Given the description of an element on the screen output the (x, y) to click on. 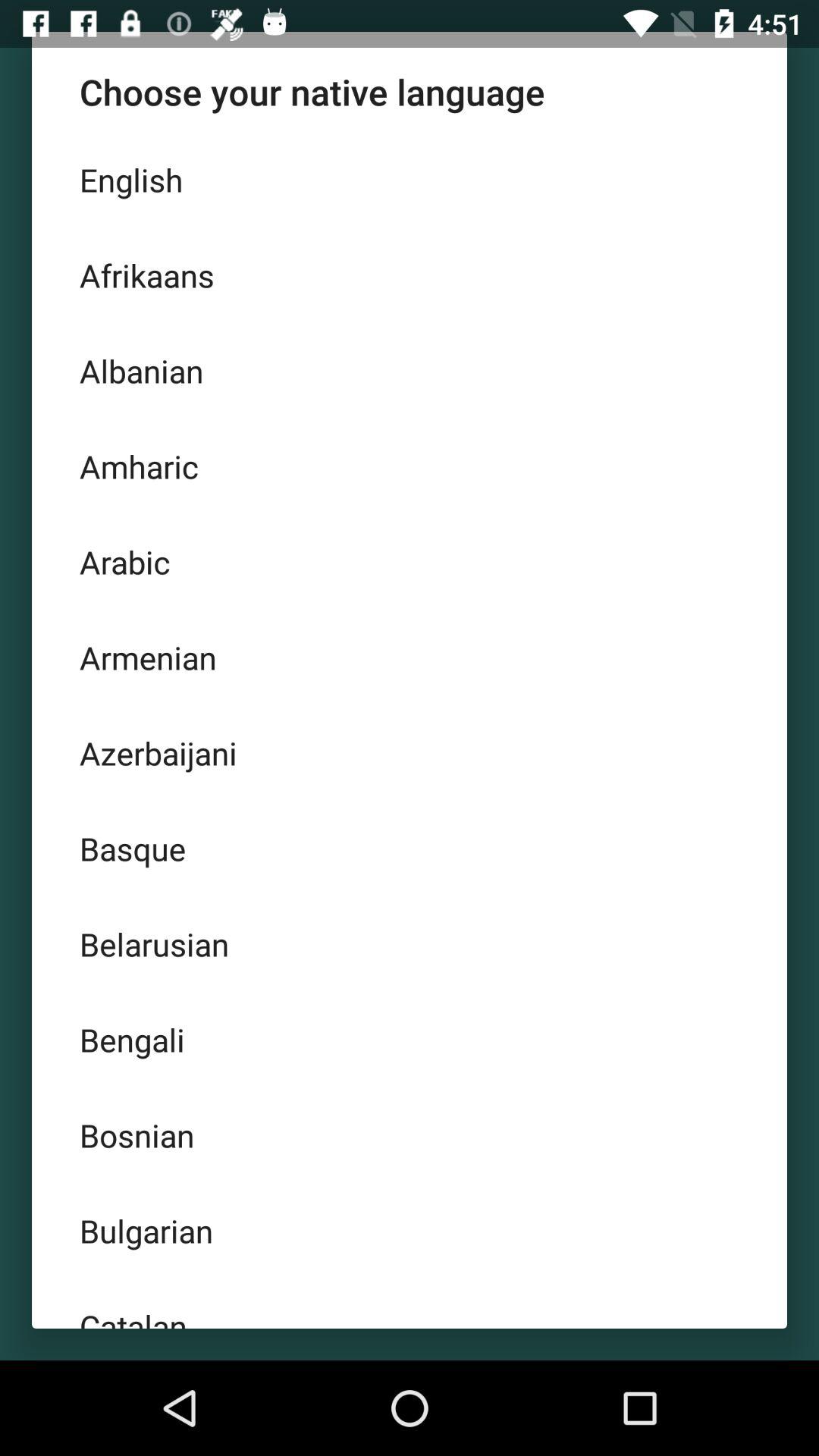
choose icon above arabic item (409, 466)
